Given the description of an element on the screen output the (x, y) to click on. 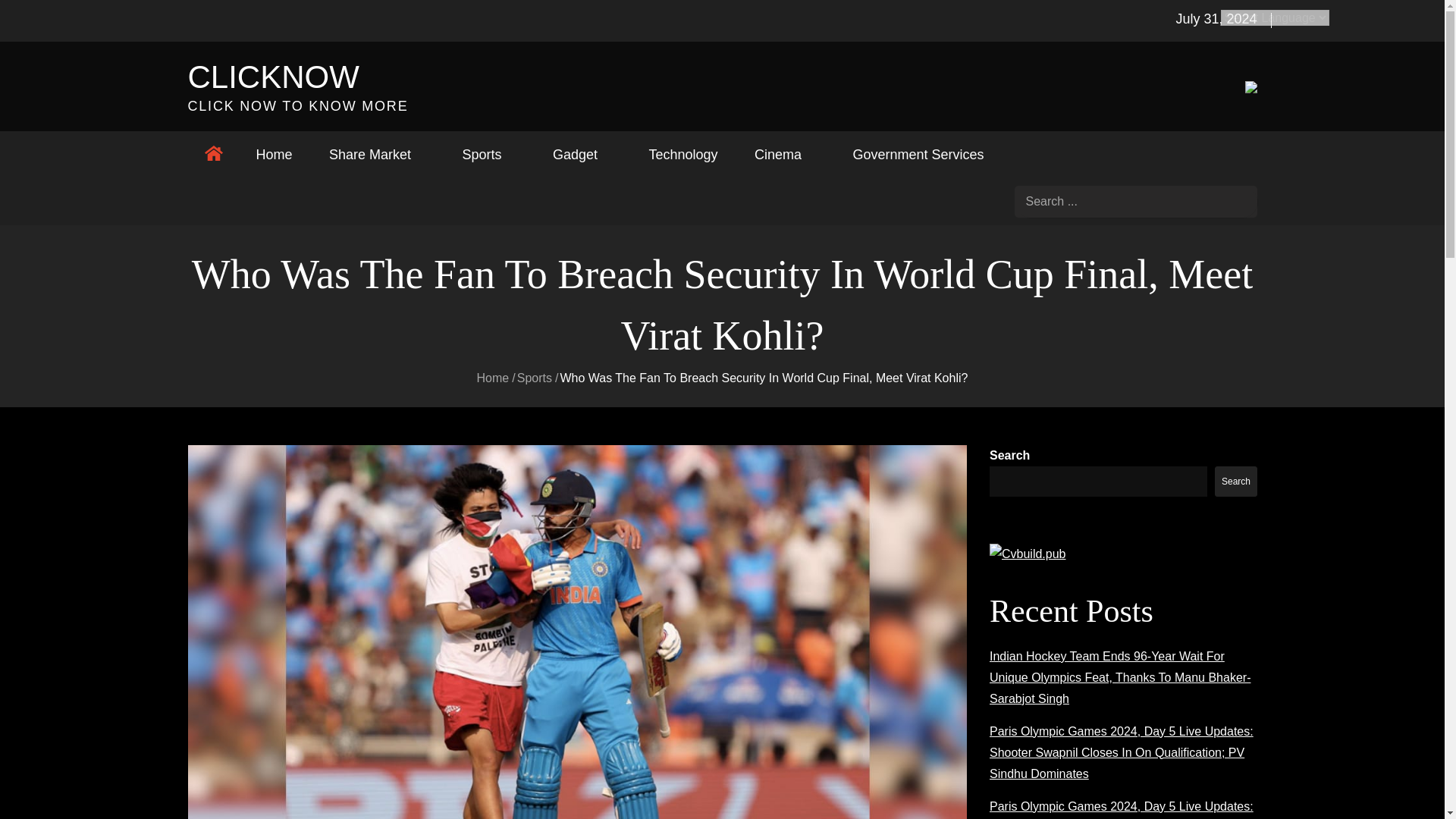
Cinema (785, 154)
Home (493, 377)
Share Market (377, 154)
Home (274, 154)
Search (1242, 200)
Sports (488, 154)
CLICKNOW (273, 76)
Search for: (1135, 201)
Technology (682, 154)
Sports (533, 377)
Gadget (581, 154)
Government Services (924, 154)
